Given the description of an element on the screen output the (x, y) to click on. 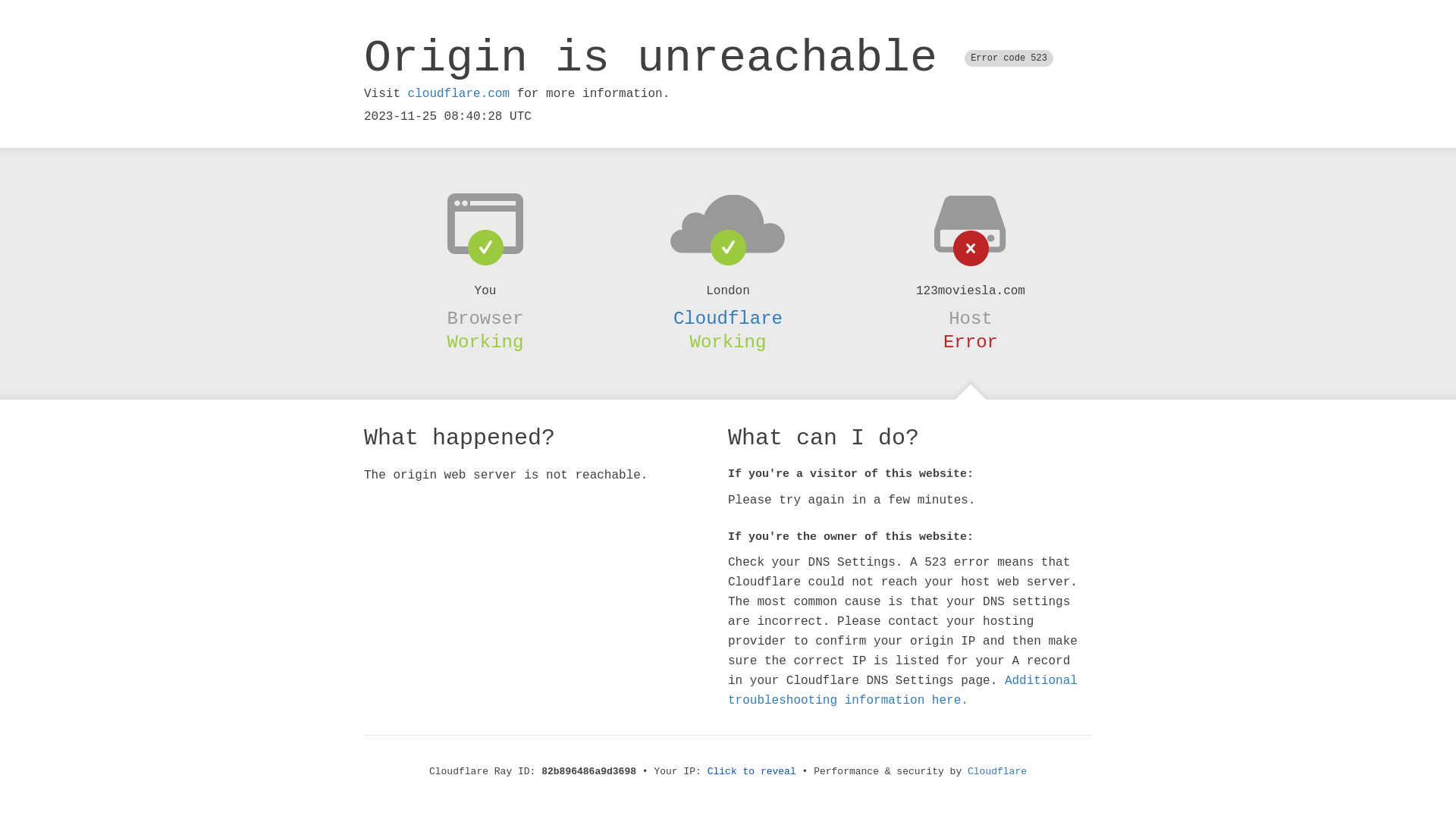
Click to reveal Element type: text (751, 771)
Cloudflare Element type: text (727, 318)
cloudflare.com Element type: text (458, 93)
Cloudflare Element type: text (996, 771)
Additional troubleshooting information here. Element type: text (902, 690)
